Given the description of an element on the screen output the (x, y) to click on. 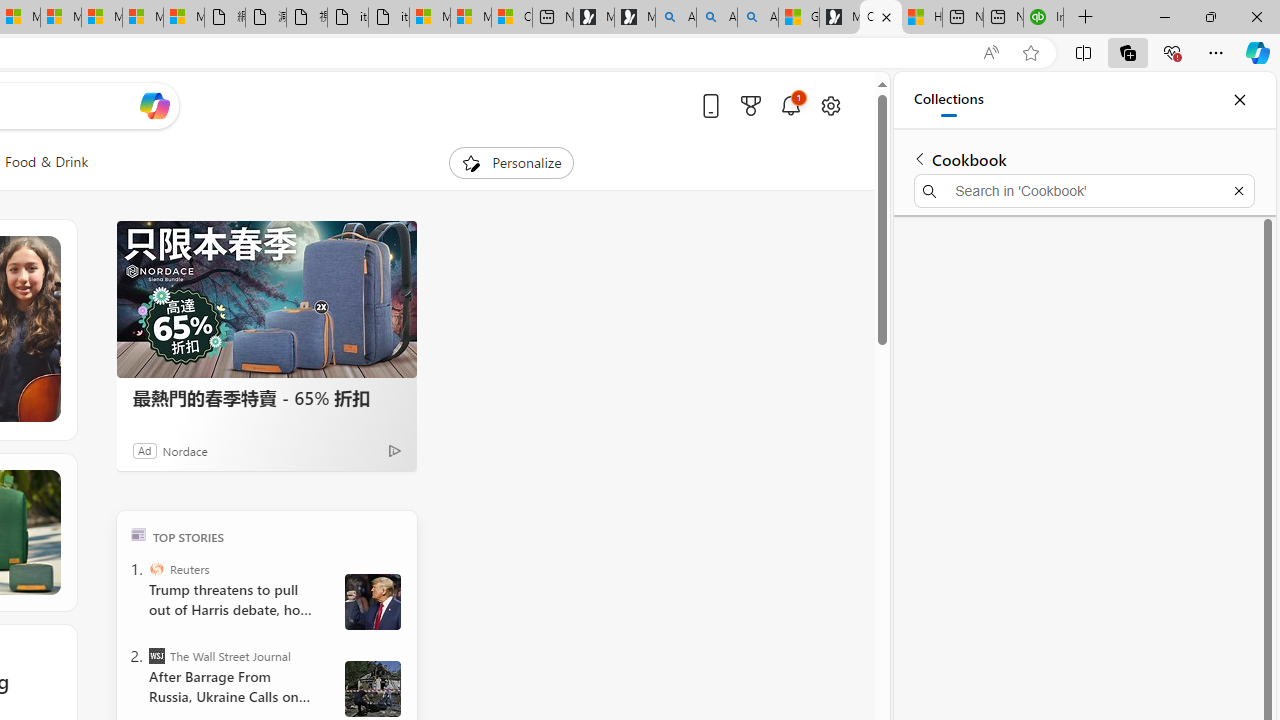
Exit search (1238, 190)
Alabama high school quarterback dies - Search (675, 17)
Crime - MSN (881, 17)
Alabama high school quarterback dies - Search Videos (758, 17)
Back to list of collections (920, 158)
Intuit QuickBooks Online - Quickbooks (1043, 17)
Consumer Health Data Privacy Policy (511, 17)
